Given the description of an element on the screen output the (x, y) to click on. 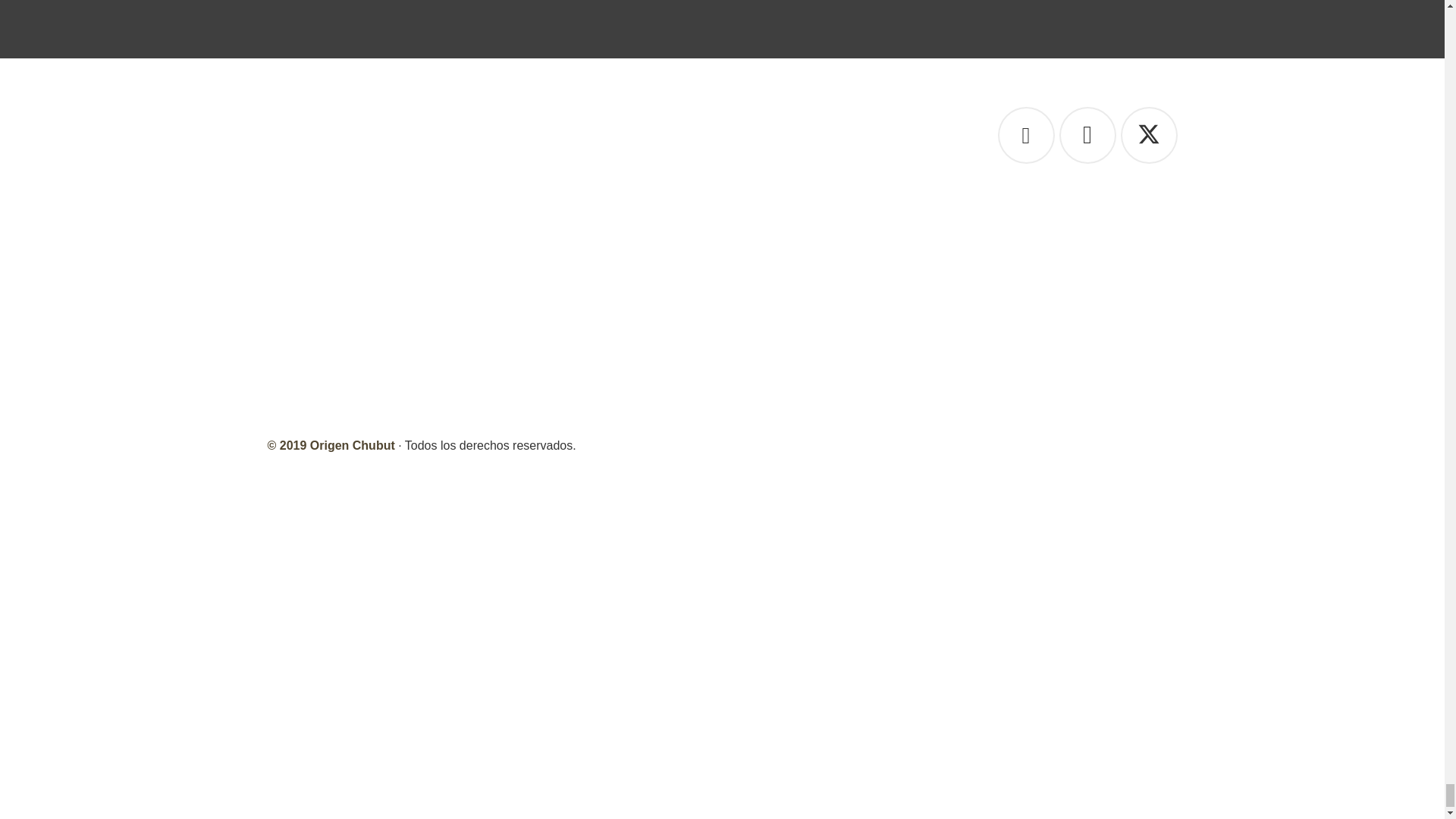
Twitter (1149, 135)
Instagram (1086, 135)
Facebook (1025, 135)
